Given the description of an element on the screen output the (x, y) to click on. 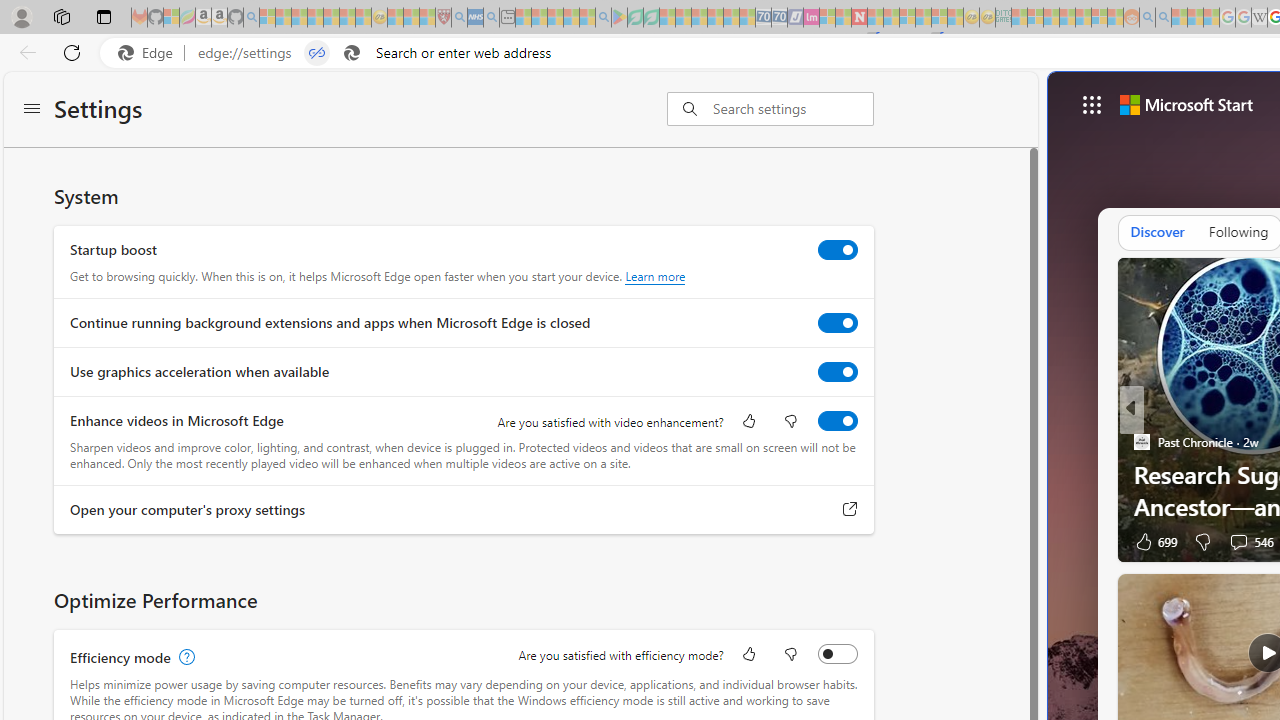
Tabs in split screen (317, 53)
Use graphics acceleration when available (837, 372)
Efficiency mode (837, 653)
Enhance videos in Microsoft Edge (837, 421)
